Given the description of an element on the screen output the (x, y) to click on. 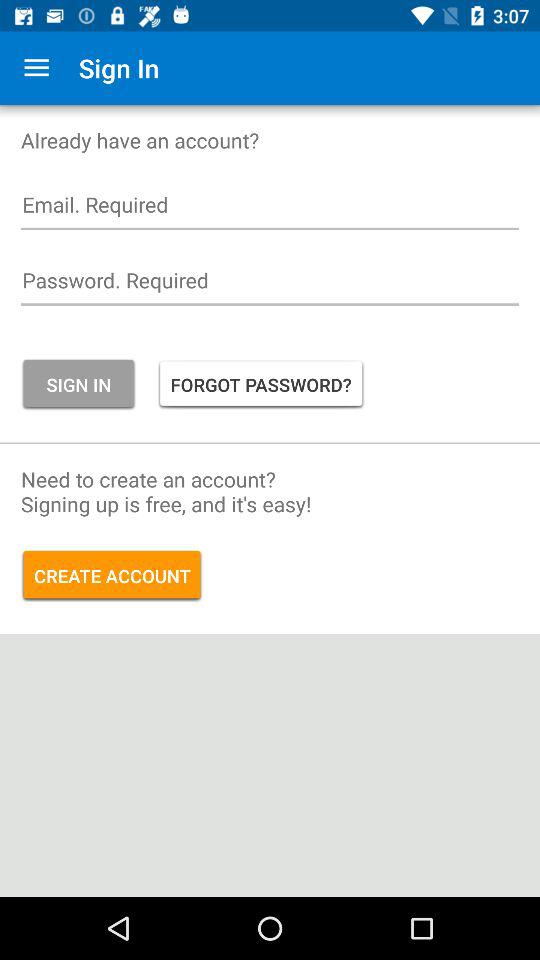
turn off the forgot password? item (260, 384)
